Given the description of an element on the screen output the (x, y) to click on. 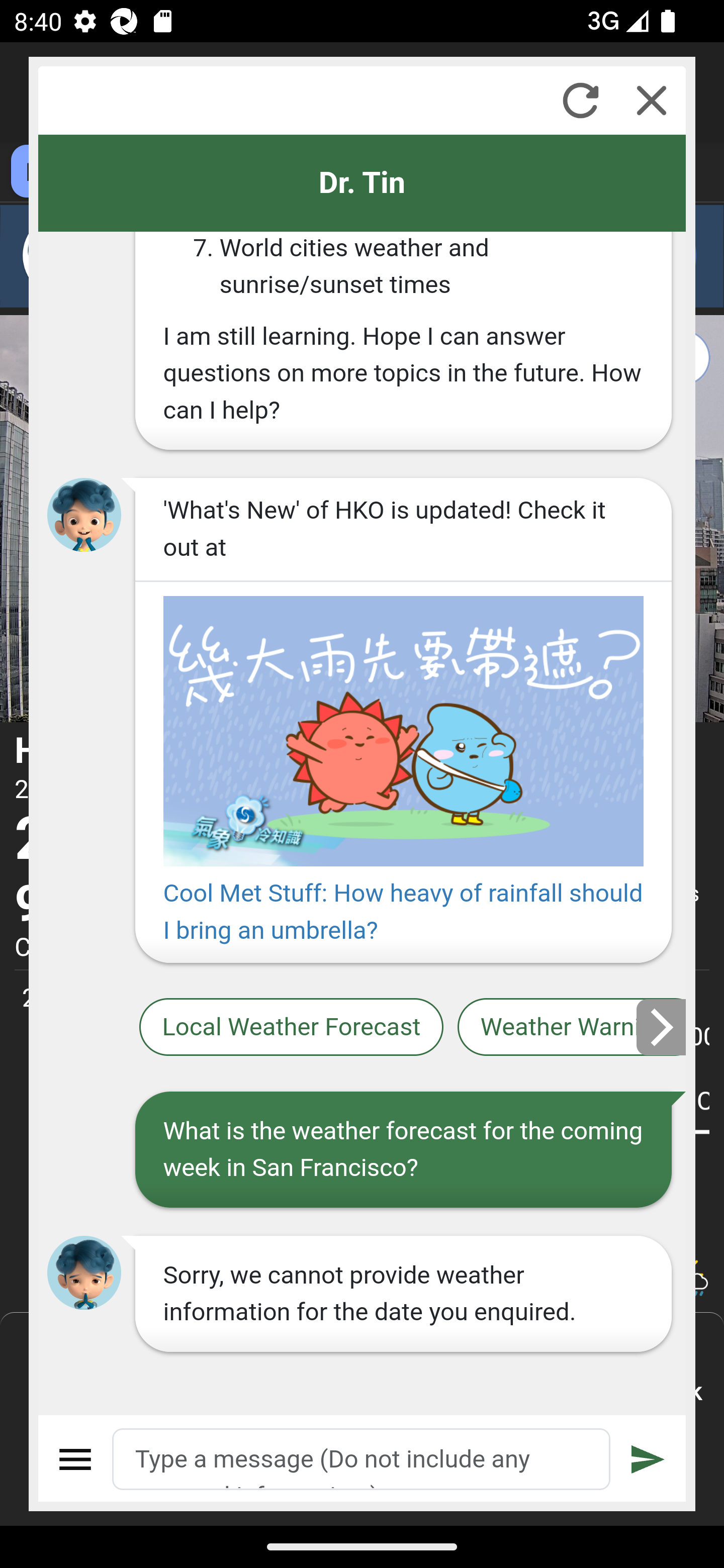
Refresh (580, 100)
Close (651, 100)
Local Weather Forecast (291, 1026)
Weather Warnings (571, 1026)
Next slide (661, 1027)
Menu (75, 1458)
Submit (648, 1458)
